Given the description of an element on the screen output the (x, y) to click on. 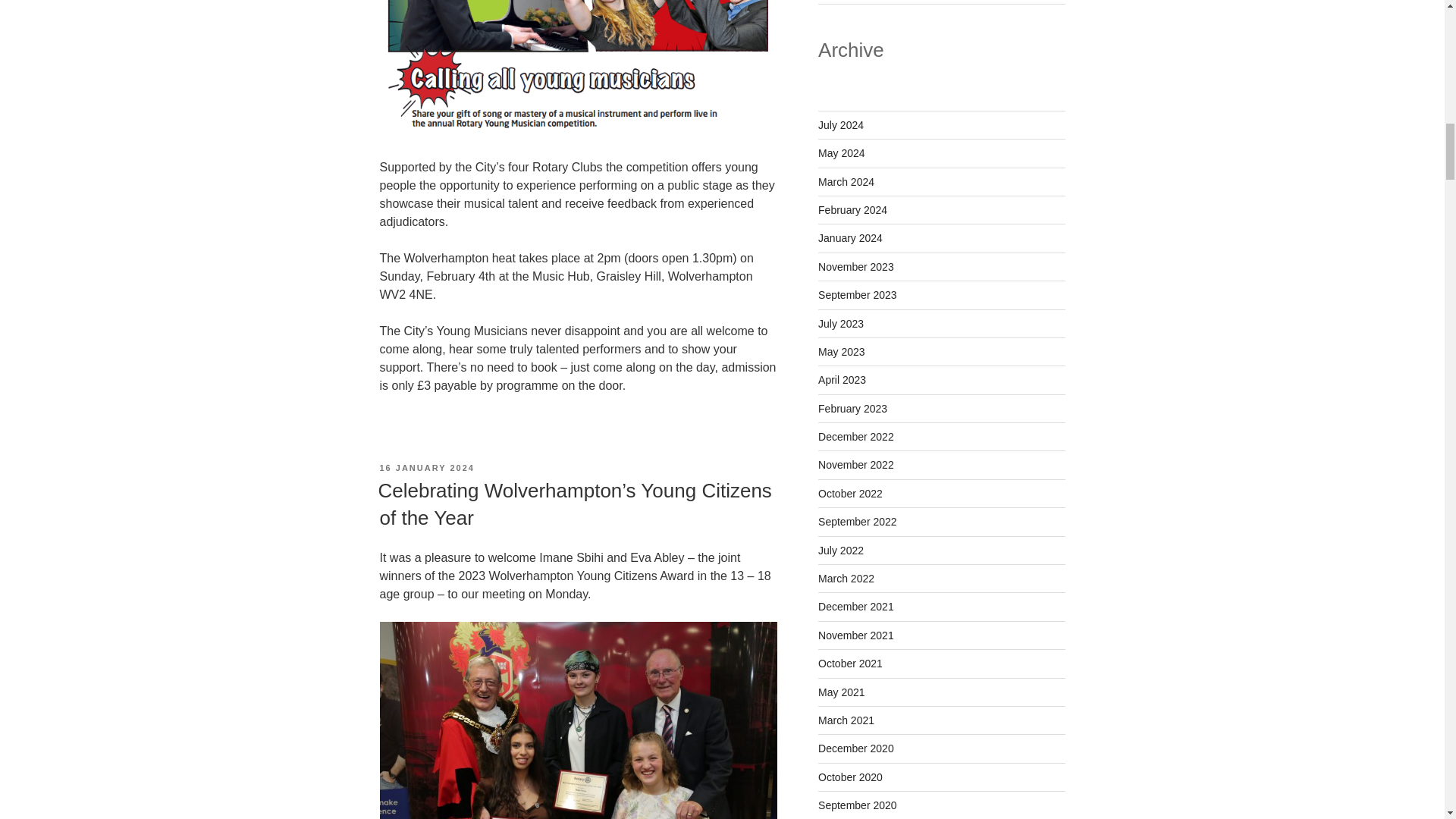
16 JANUARY 2024 (426, 467)
